Given the description of an element on the screen output the (x, y) to click on. 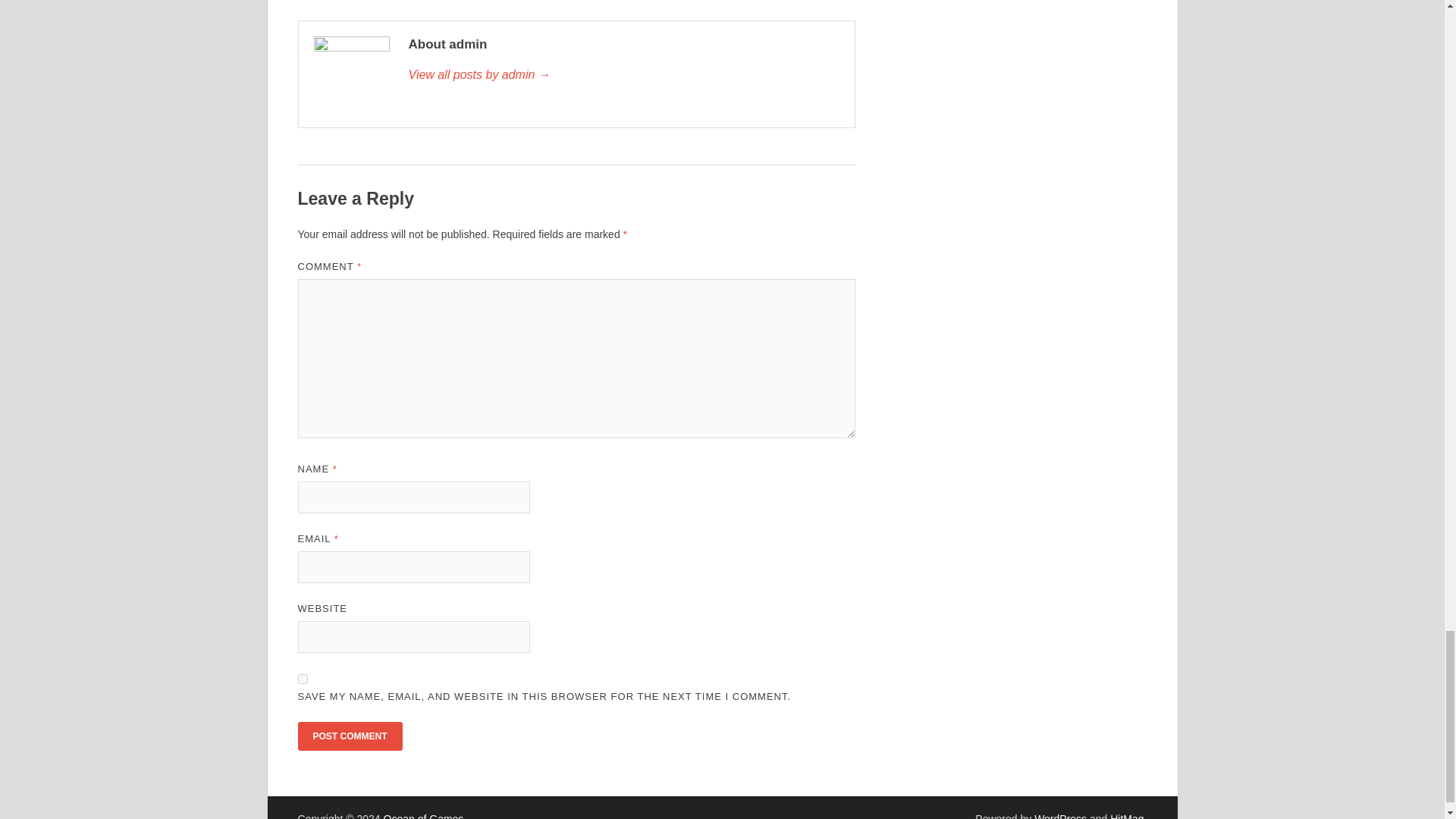
yes (302, 678)
admin (622, 75)
Post Comment (349, 736)
